Given the description of an element on the screen output the (x, y) to click on. 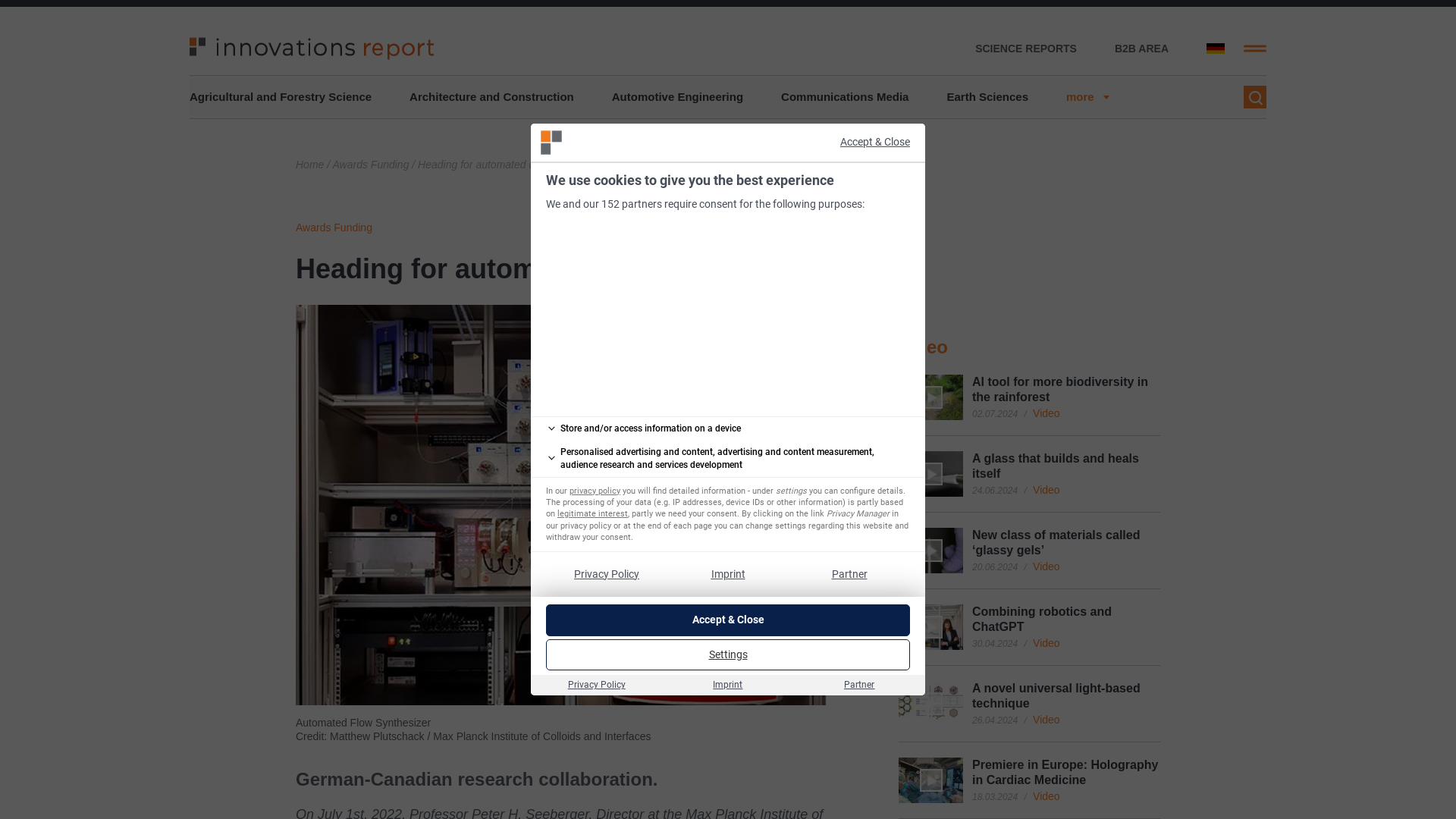
Earth Sciences (986, 96)
Agricultural and Forestry Science (280, 96)
Communications Media (844, 96)
SCIENCE REPORTS (1026, 48)
B2B AREA (1142, 48)
Automotive Engineering (676, 96)
Architecture and Construction (491, 96)
